Given the description of an element on the screen output the (x, y) to click on. 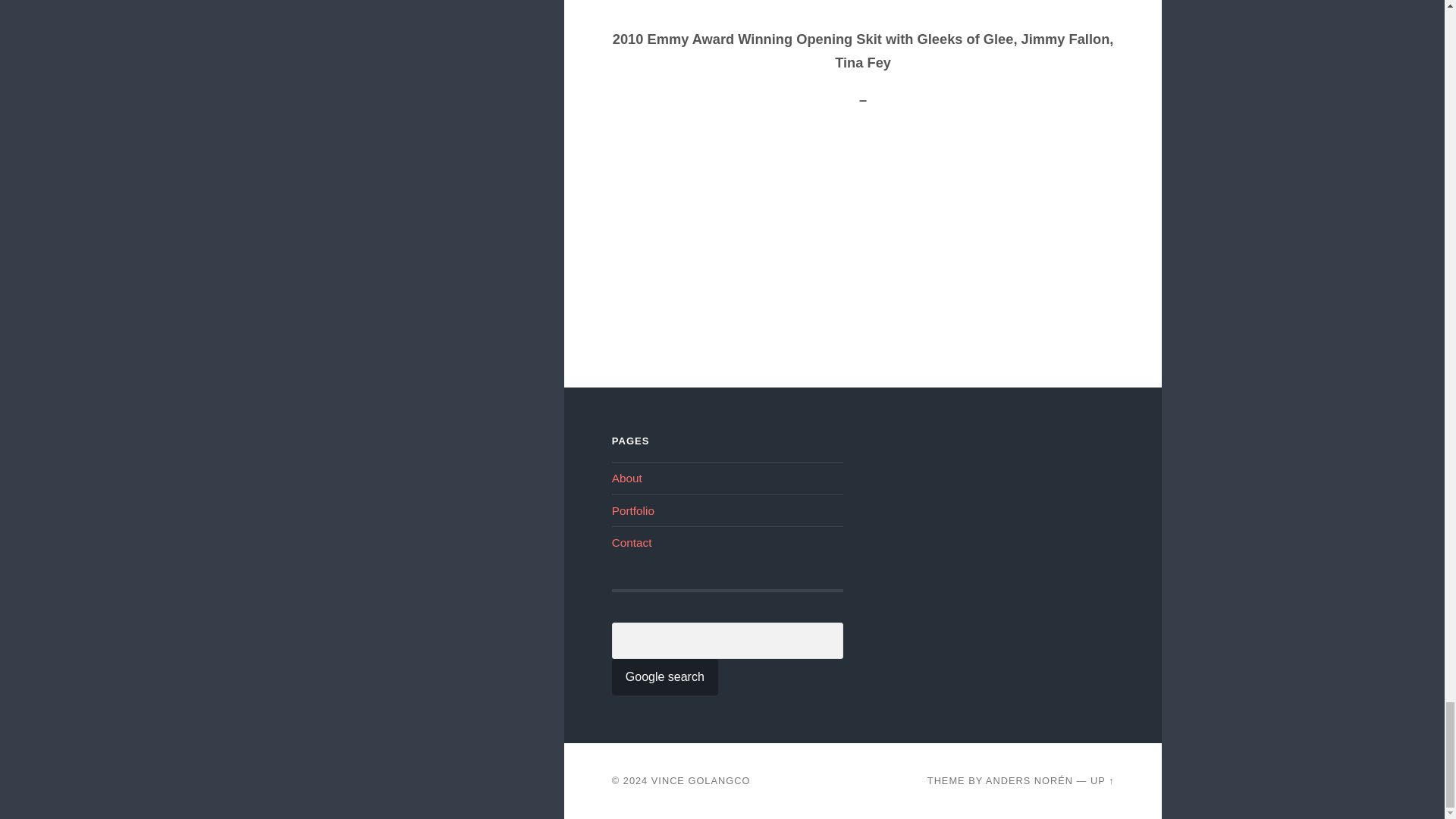
About (626, 477)
Google search (664, 677)
Contact (631, 542)
Google search (664, 677)
Portfolio (632, 510)
VINCE GOLANGCO (700, 780)
